Given the description of an element on the screen output the (x, y) to click on. 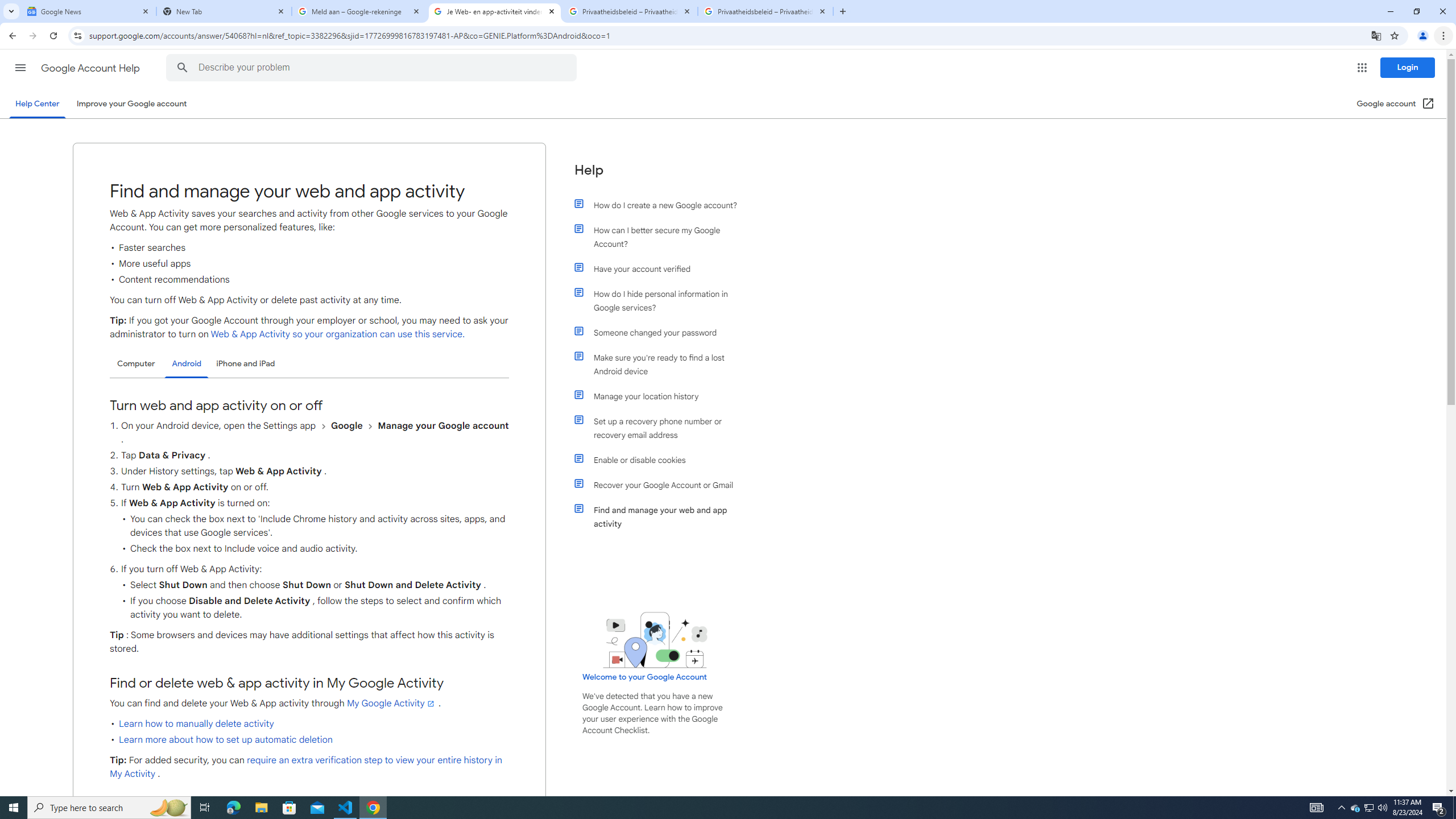
System (6, 6)
Someone changed your password (661, 332)
Improve your Google account (131, 103)
Bookmark this tab (1393, 35)
Close (821, 11)
Main menu (20, 67)
Google Account (Opens in new window) (1395, 103)
Restore (1416, 11)
You (1422, 35)
Computer (136, 363)
How do I create a new Google account? (661, 204)
